Given the description of an element on the screen output the (x, y) to click on. 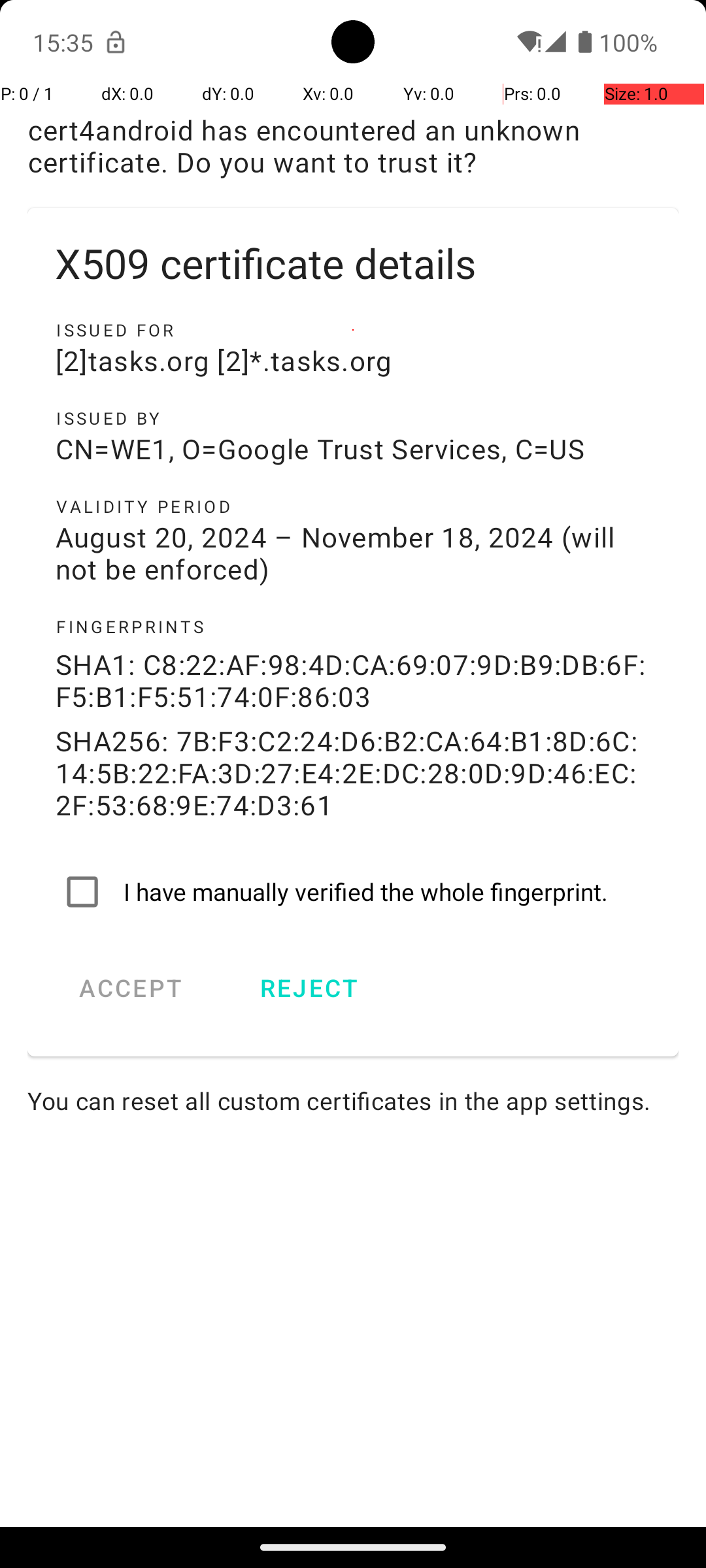
cert4android has encountered an unknown certificate. Do you want to trust it? Element type: android.widget.TextView (352, 145)
X509 certificate details Element type: android.widget.TextView (352, 262)
ISSUED FOR Element type: android.widget.TextView (352, 329)
[2]tasks.org [2]*.tasks.org  Element type: android.widget.TextView (352, 359)
ISSUED BY Element type: android.widget.TextView (352, 417)
CN=WE1, O=Google Trust Services, C=US Element type: android.widget.TextView (352, 448)
VALIDITY PERIOD Element type: android.widget.TextView (352, 506)
August 20, 2024 – November 18, 2024 (will not be enforced) Element type: android.widget.TextView (352, 552)
FINGERPRINTS Element type: android.widget.TextView (352, 626)
SHA1: C8:22:AF:98:4D:CA:69:07:9D:B9:DB:6F:F5:B1:F5:51:74:0F:86:03 Element type: android.widget.TextView (352, 679)
SHA256: 7B:F3:C2:24:D6:B2:CA:64:B1:8D:6C:14:5B:22:FA:3D:27:E4:2E:DC:28:0D:9D:46:EC:2F:53:68:9E:74:D3:61 Element type: android.widget.TextView (352, 772)
I have manually verified the whole fingerprint. Element type: android.widget.CheckBox (352, 891)
ACCEPT Element type: android.widget.Button (129, 987)
REJECT Element type: android.widget.Button (308, 987)
You can reset all custom certificates in the app settings. Element type: android.widget.TextView (352, 1100)
